Given the description of an element on the screen output the (x, y) to click on. 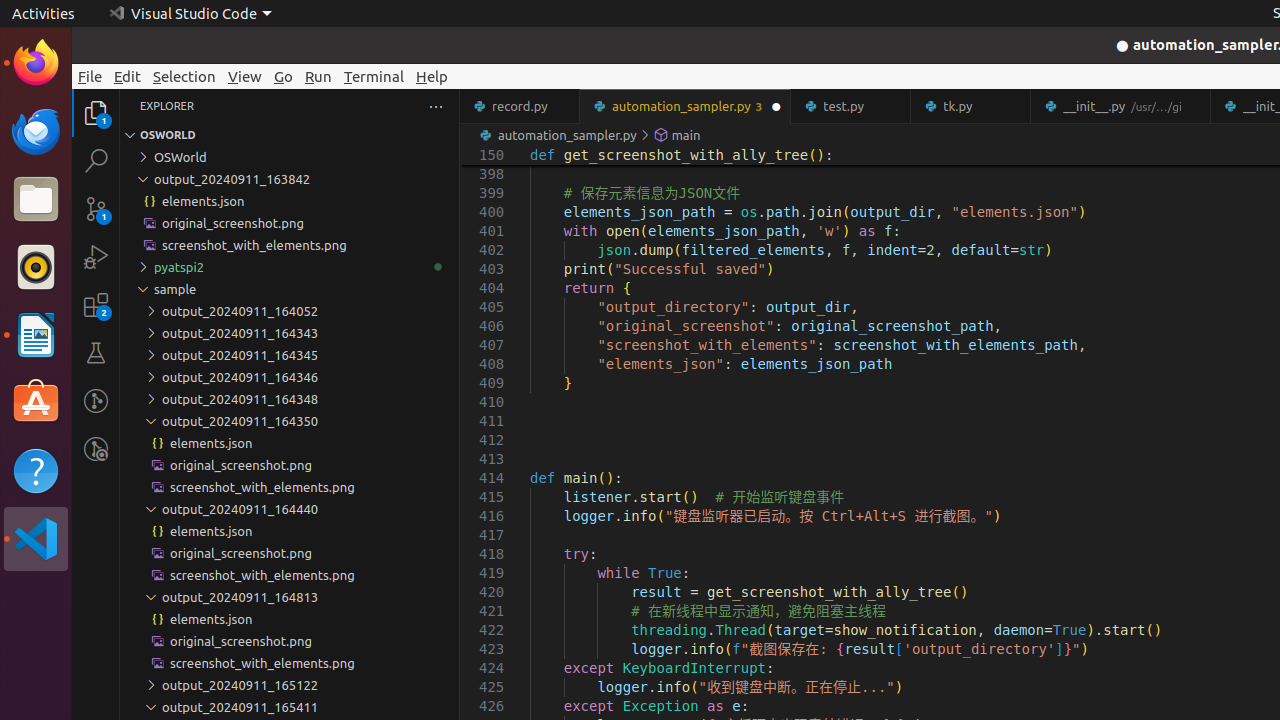
Testing Element type: page-tab (96, 353)
Run and Debug (Ctrl+Shift+D) Element type: page-tab (96, 257)
Explorer Section: osworld Element type: push-button (289, 135)
Explorer (Ctrl+Shift+E) - 1 unsaved file Element type: page-tab (96, 113)
output_20240911_163842 Element type: tree-item (289, 179)
